Given the description of an element on the screen output the (x, y) to click on. 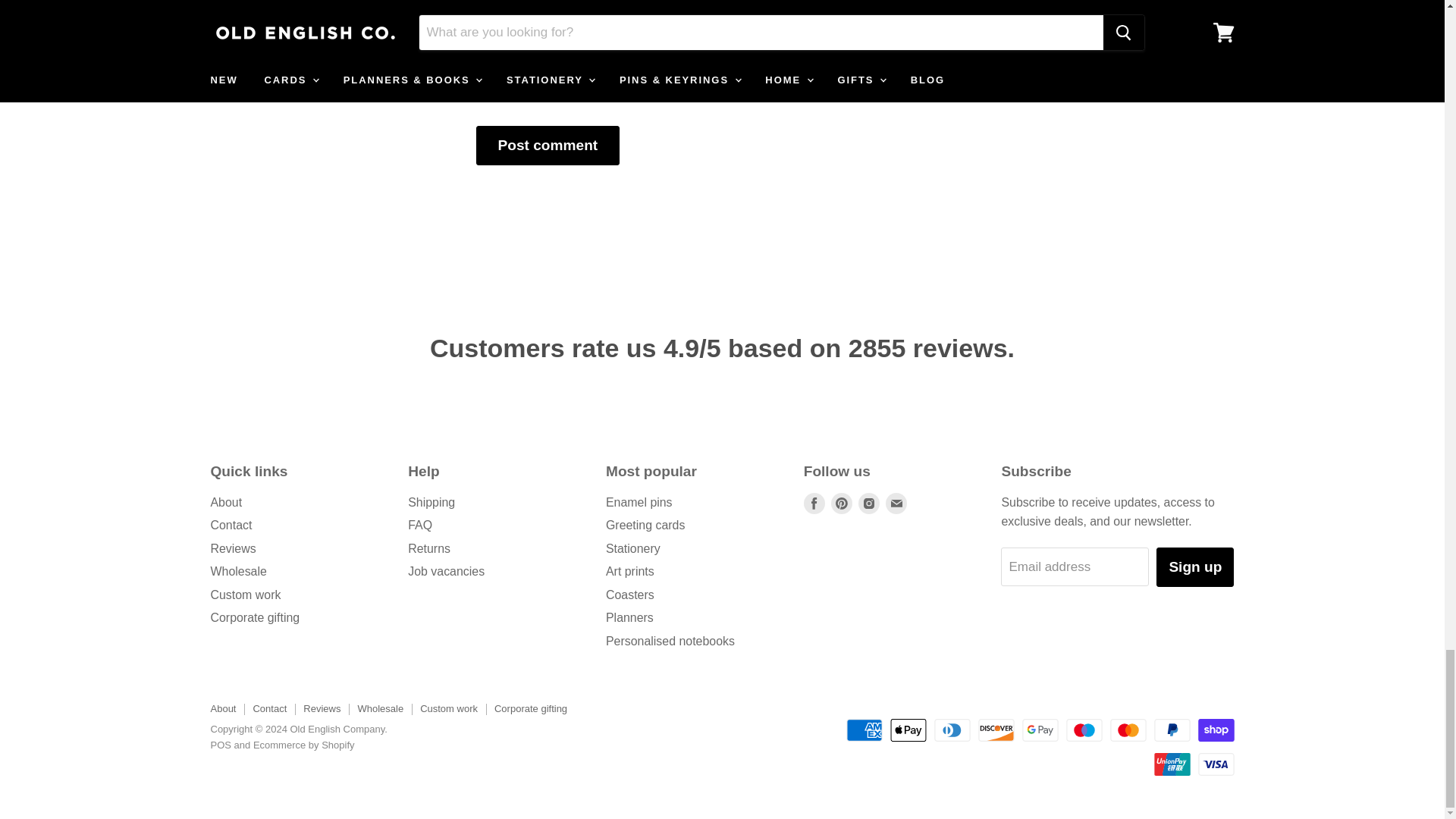
American Express (863, 730)
Pinterest (841, 503)
Instagram (869, 503)
Diners Club (952, 730)
Apple Pay (907, 730)
E-mail (896, 503)
Facebook (814, 503)
Discover (996, 730)
